Given the description of an element on the screen output the (x, y) to click on. 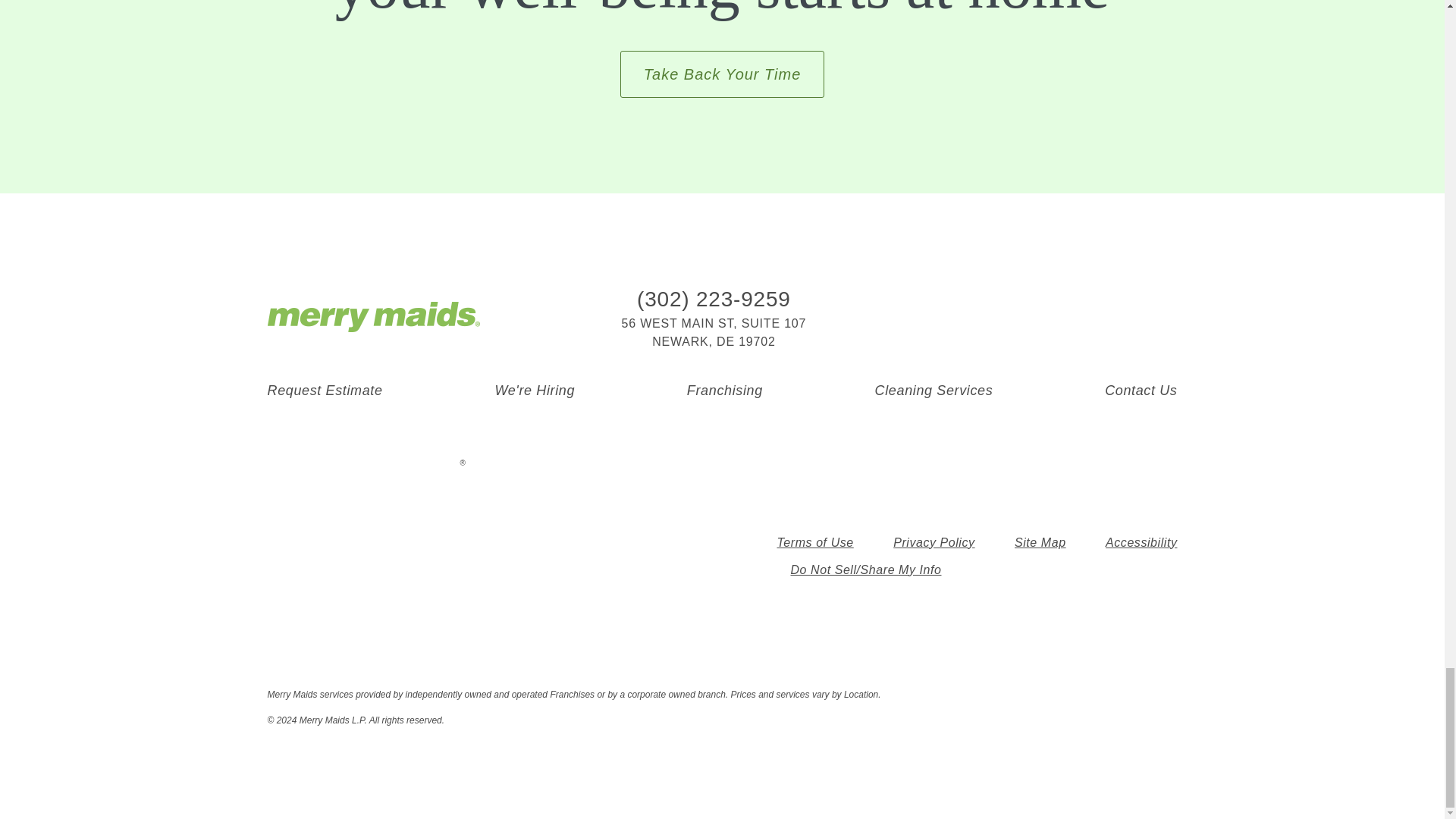
yelp (1160, 316)
Merry Maids (372, 317)
youtube-3 (996, 316)
Google My Business (1128, 316)
facebook (963, 316)
twitter (1062, 316)
instagram (1029, 316)
pinterest (1095, 316)
